Given the description of an element on the screen output the (x, y) to click on. 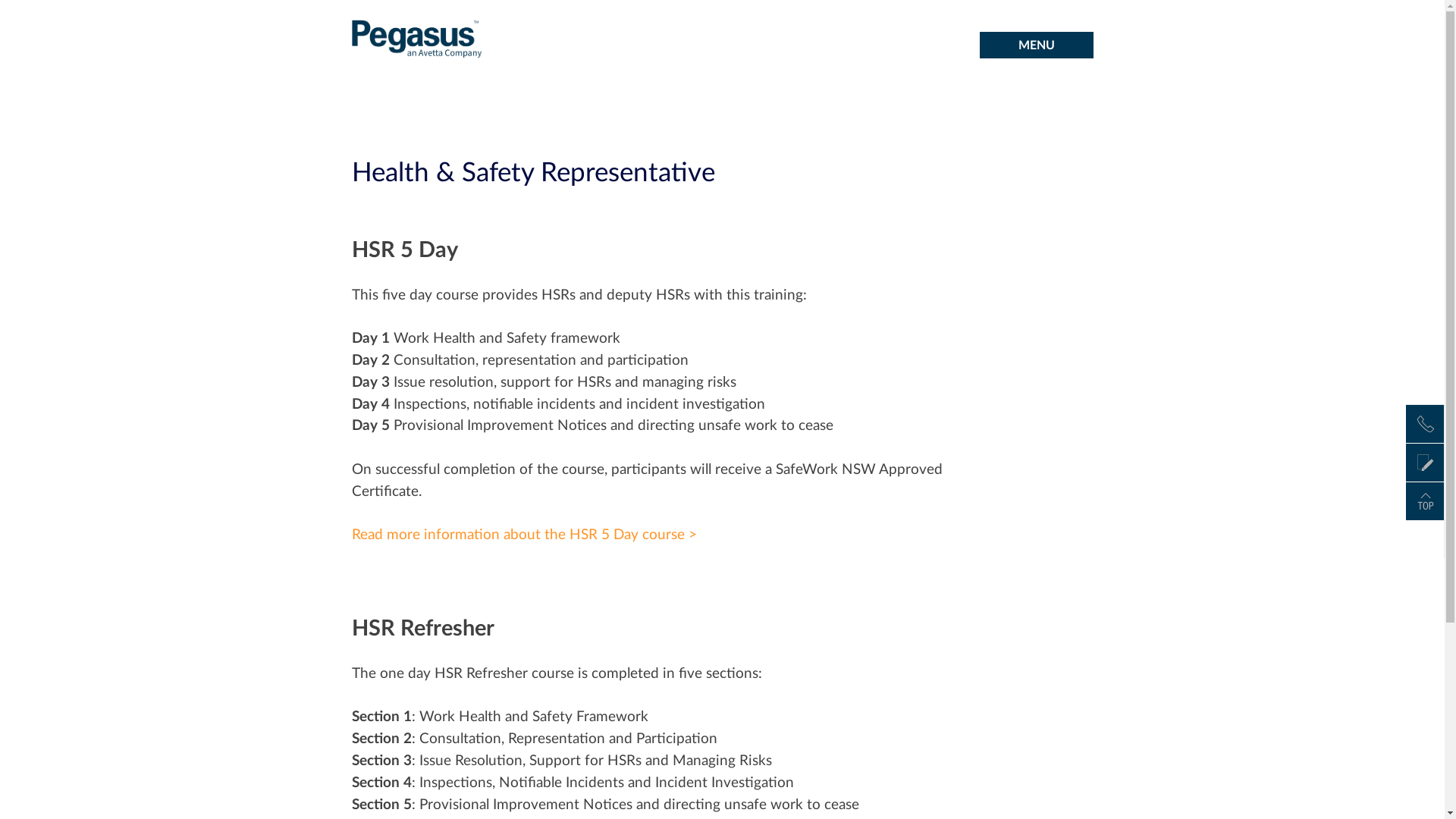
Read more information about the HSR 5 Day course > Element type: text (523, 534)
MENU Element type: text (1036, 44)
Pegasus Training Element type: text (416, 65)
